Given the description of an element on the screen output the (x, y) to click on. 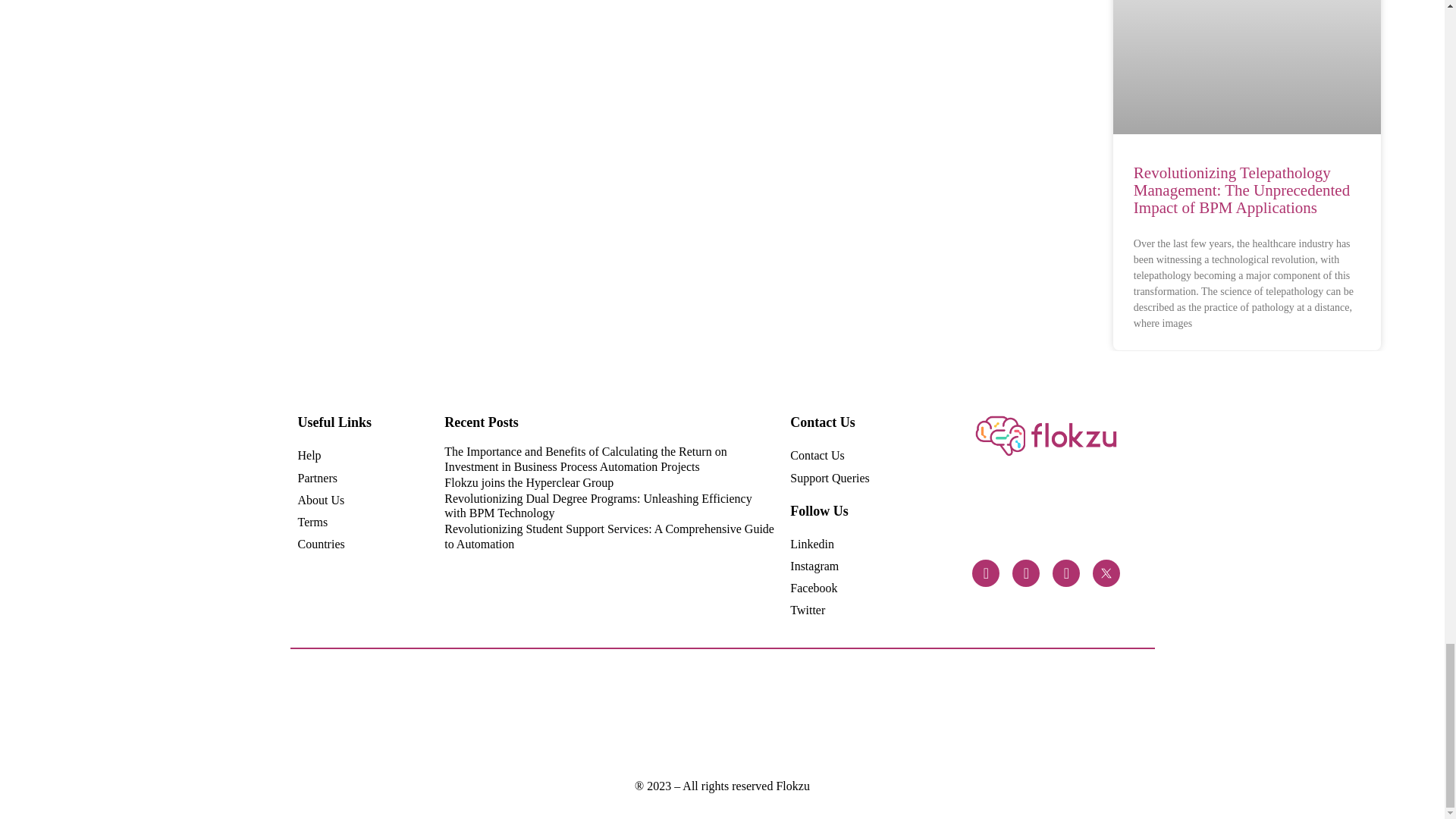
getapp best functionality and features-footer (1010, 714)
Top Performer Flokzu 2024-2 (559, 714)
good firms top bpm-footer (945, 715)
category leaders 2024 (430, 714)
frontrunner 2024 (494, 714)
Top Performer Flokzu 2024-1 (688, 714)
